Given the description of an element on the screen output the (x, y) to click on. 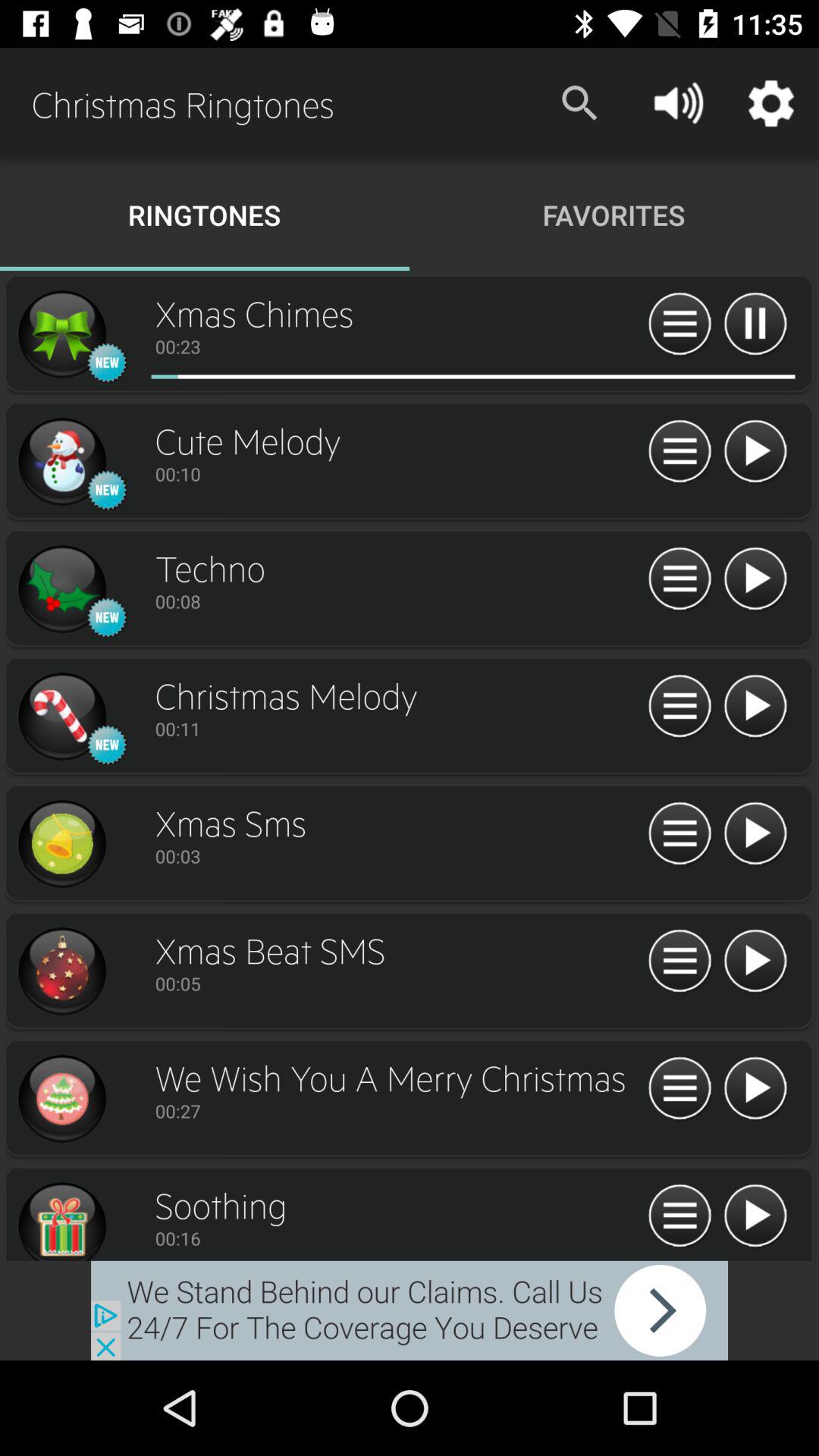
go to next (755, 1216)
